Given the description of an element on the screen output the (x, y) to click on. 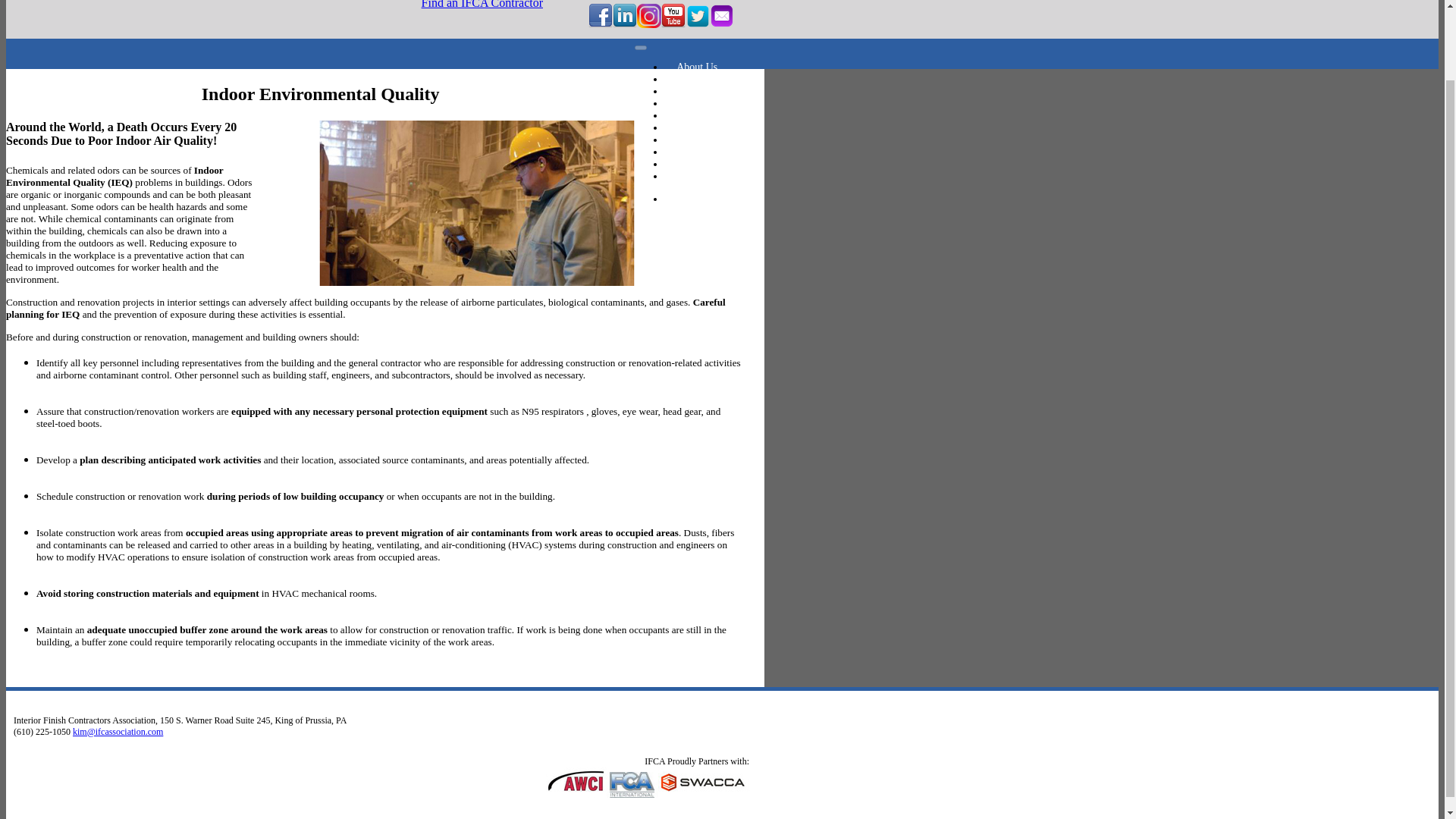
About Us (697, 67)
Calendar (695, 163)
Contact Us (700, 175)
Find an IFCA Contractor (482, 11)
Education (697, 115)
Members (696, 151)
Toggle navigation (640, 47)
Log In (690, 198)
Safety (689, 103)
Labor (689, 90)
